Given the description of an element on the screen output the (x, y) to click on. 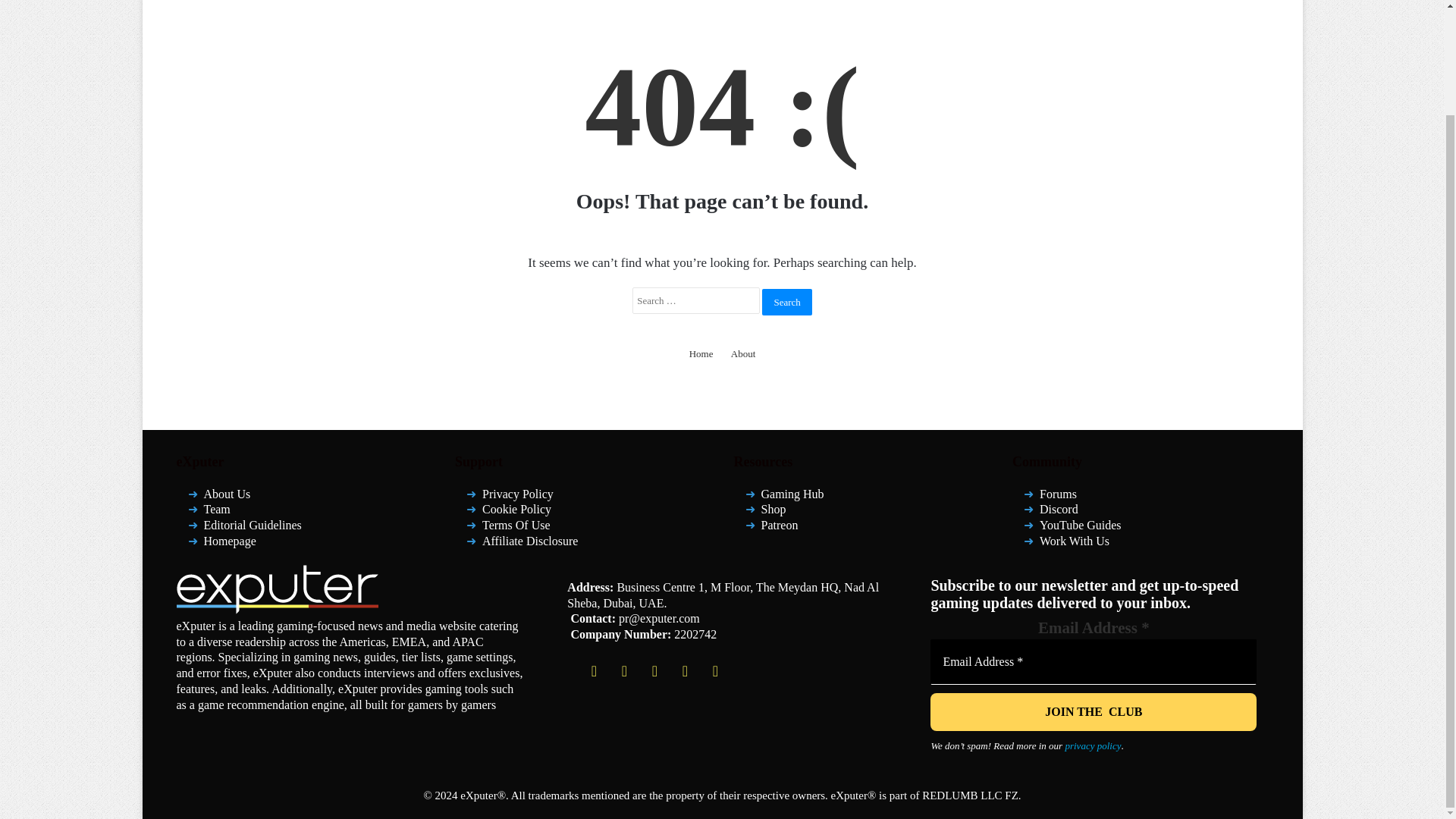
Search (785, 301)
Search (785, 301)
JOIN THE  CLUB (1093, 711)
Email Address (1093, 661)
